Given the description of an element on the screen output the (x, y) to click on. 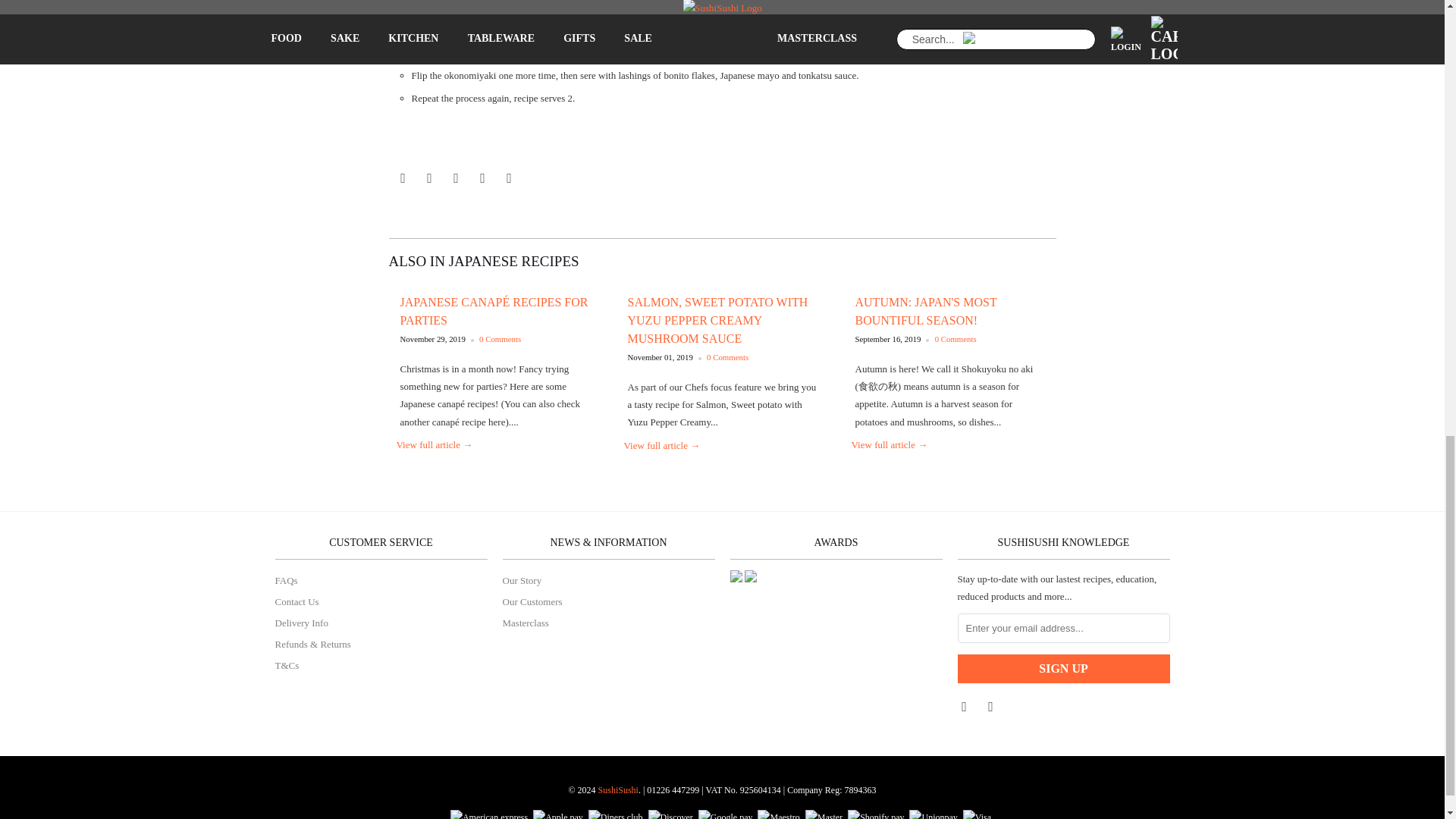
Share this on Twitter (400, 177)
Autumn: Japan's Most Bountiful Season! (926, 310)
Email this to a friend (507, 177)
Sign Up (1062, 668)
Autumn: Japan's Most Bountiful Season! (888, 444)
Salmon, Sweet potato with Yuzu Pepper Creamy Mushroom Sauce (717, 319)
Contact Us (296, 601)
Share this on Facebook (426, 177)
Delivery Info (301, 622)
Our Story (521, 580)
FAQs (286, 580)
Share this on Pinterest (453, 177)
Salmon, Sweet potato with Yuzu Pepper Creamy Mushroom Sauce (661, 445)
